Given the description of an element on the screen output the (x, y) to click on. 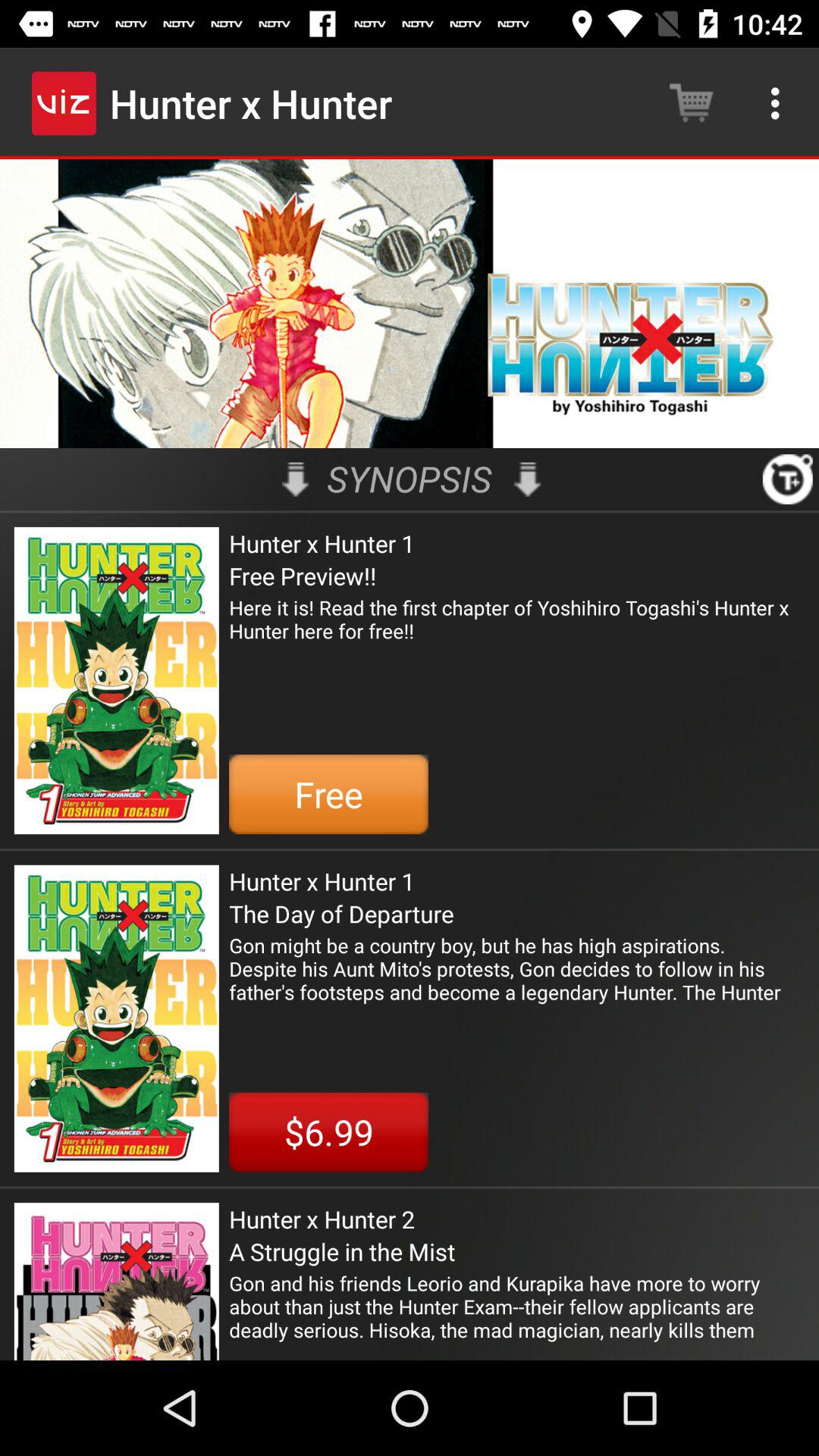
turn on icon below gon might be item (328, 1132)
